Given the description of an element on the screen output the (x, y) to click on. 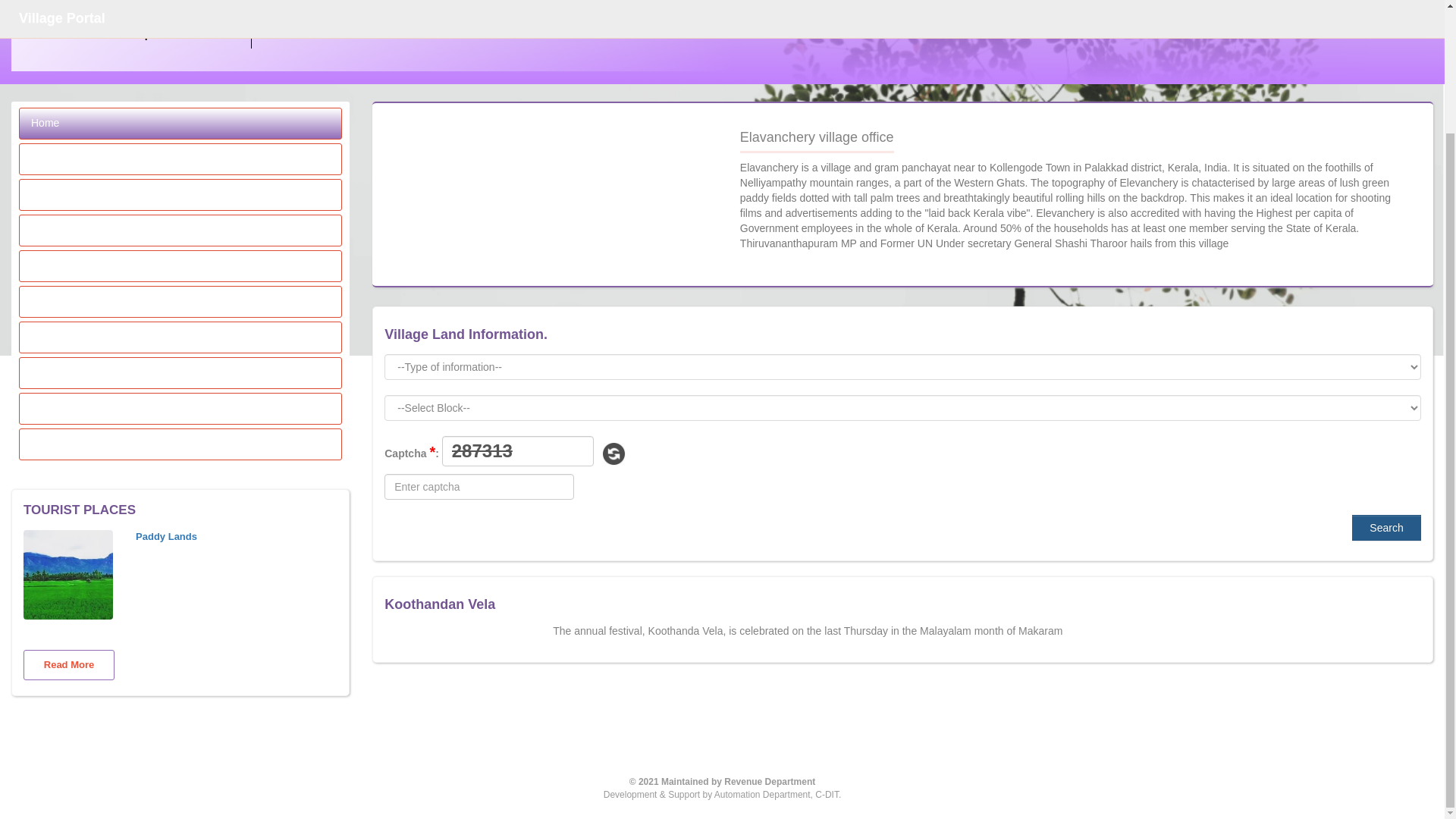
Paddy Lands (181, 536)
Pay Your Land Tax (180, 230)
287313 (518, 450)
Who's Who (180, 372)
Home (180, 123)
Right To Service (180, 337)
Activities (180, 301)
Search (1386, 527)
About Village (180, 159)
Elavanchery village office (180, 194)
